Given the description of an element on the screen output the (x, y) to click on. 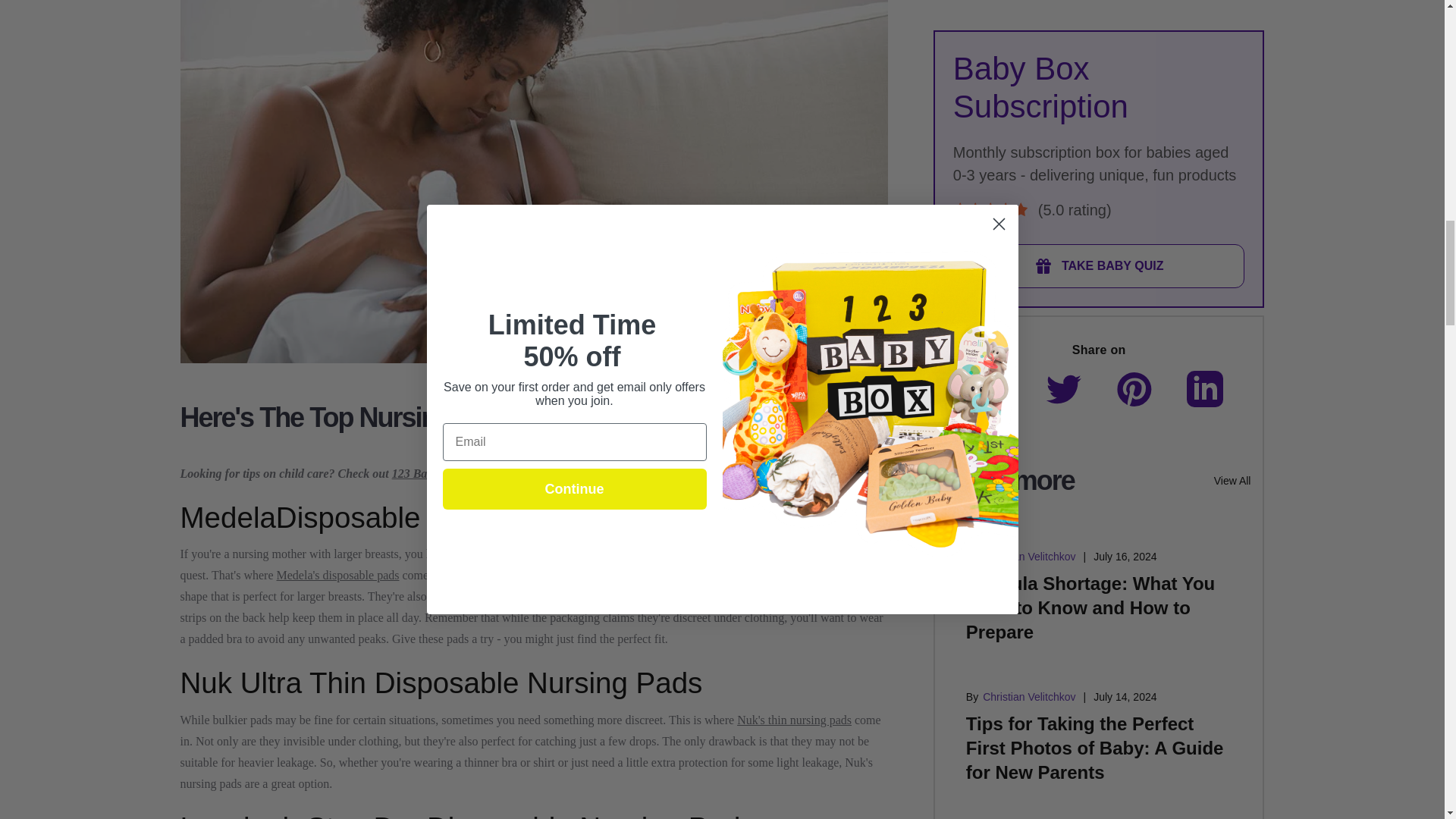
Nuk's thin nursing pads (793, 719)
123 Baby Box (426, 472)
Medela's disposable pads (337, 574)
